Given the description of an element on the screen output the (x, y) to click on. 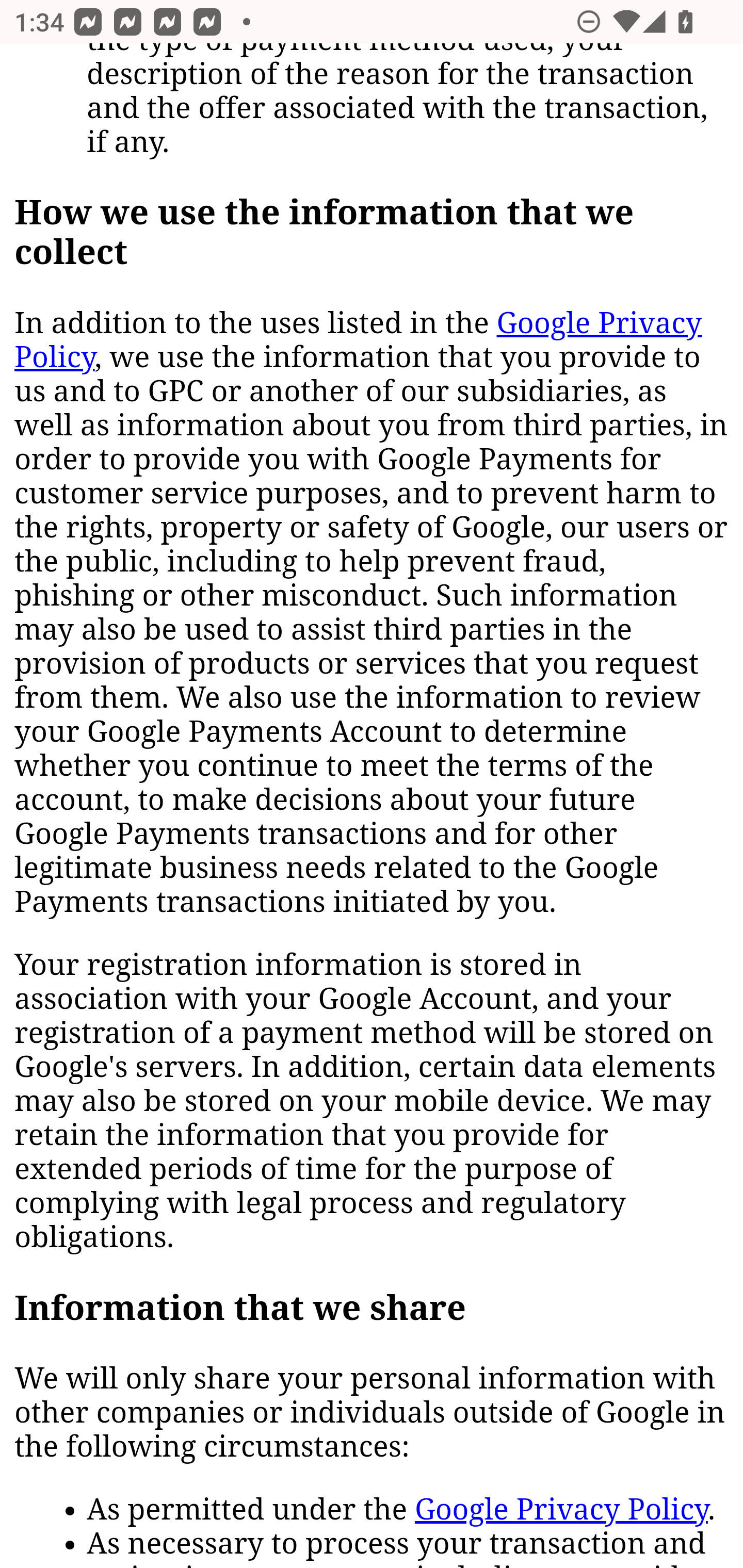
Google Privacy Policy (358, 341)
Google Privacy Policy (561, 1511)
